Given the description of an element on the screen output the (x, y) to click on. 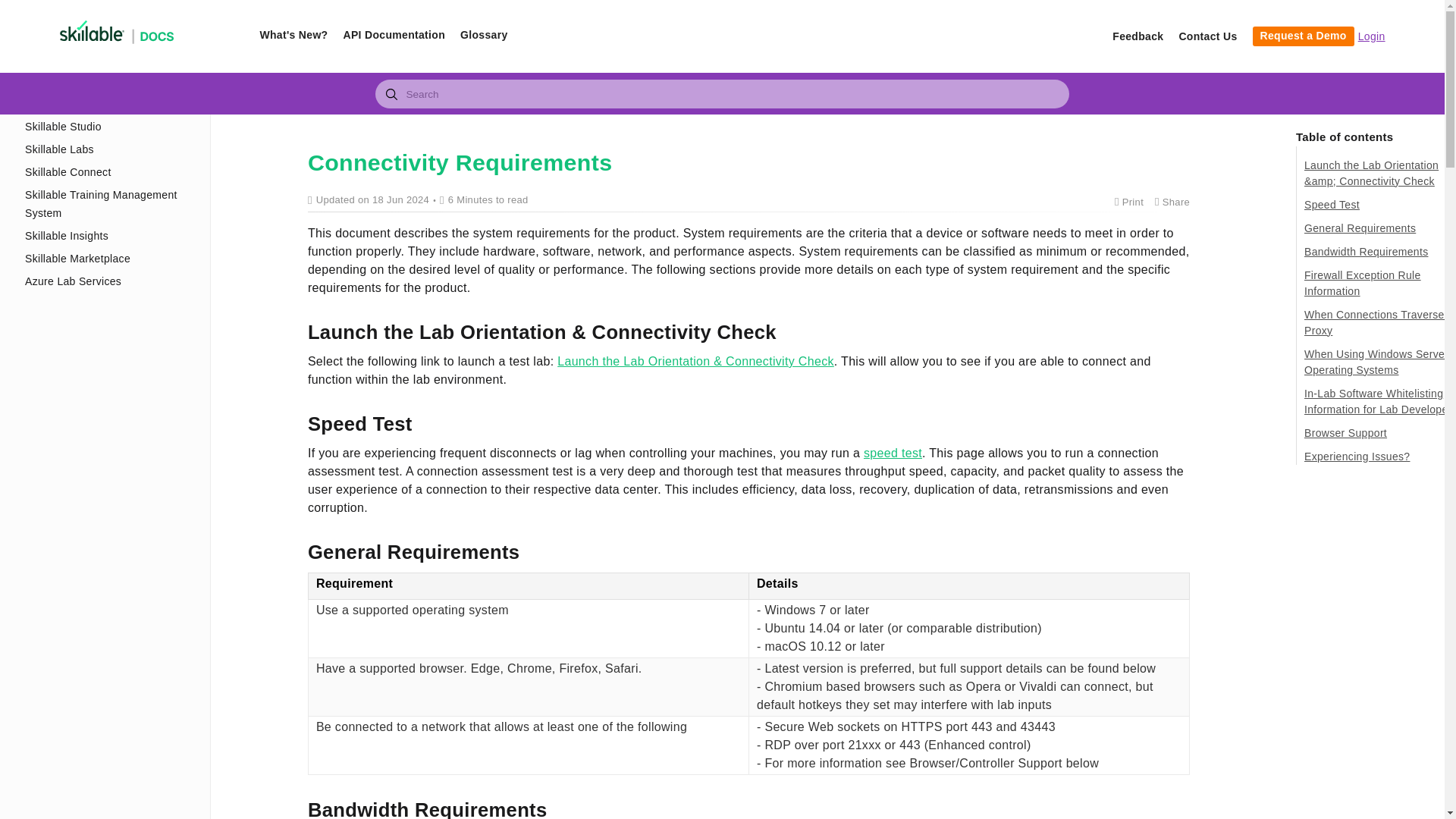
Skillable Labs (107, 149)
Contact Us (1206, 36)
Skillable Connect (107, 171)
Feedback (1137, 36)
Skillable Insights (107, 235)
Skillable Studio (107, 126)
Request a Demo (1303, 35)
Azure Lab Services (107, 281)
What's New? (293, 35)
Login (1372, 36)
speed test (892, 452)
Skillable Training Management System (107, 203)
API Documentation (393, 35)
Skillable Marketplace (107, 258)
Glossary (483, 35)
